Given the description of an element on the screen output the (x, y) to click on. 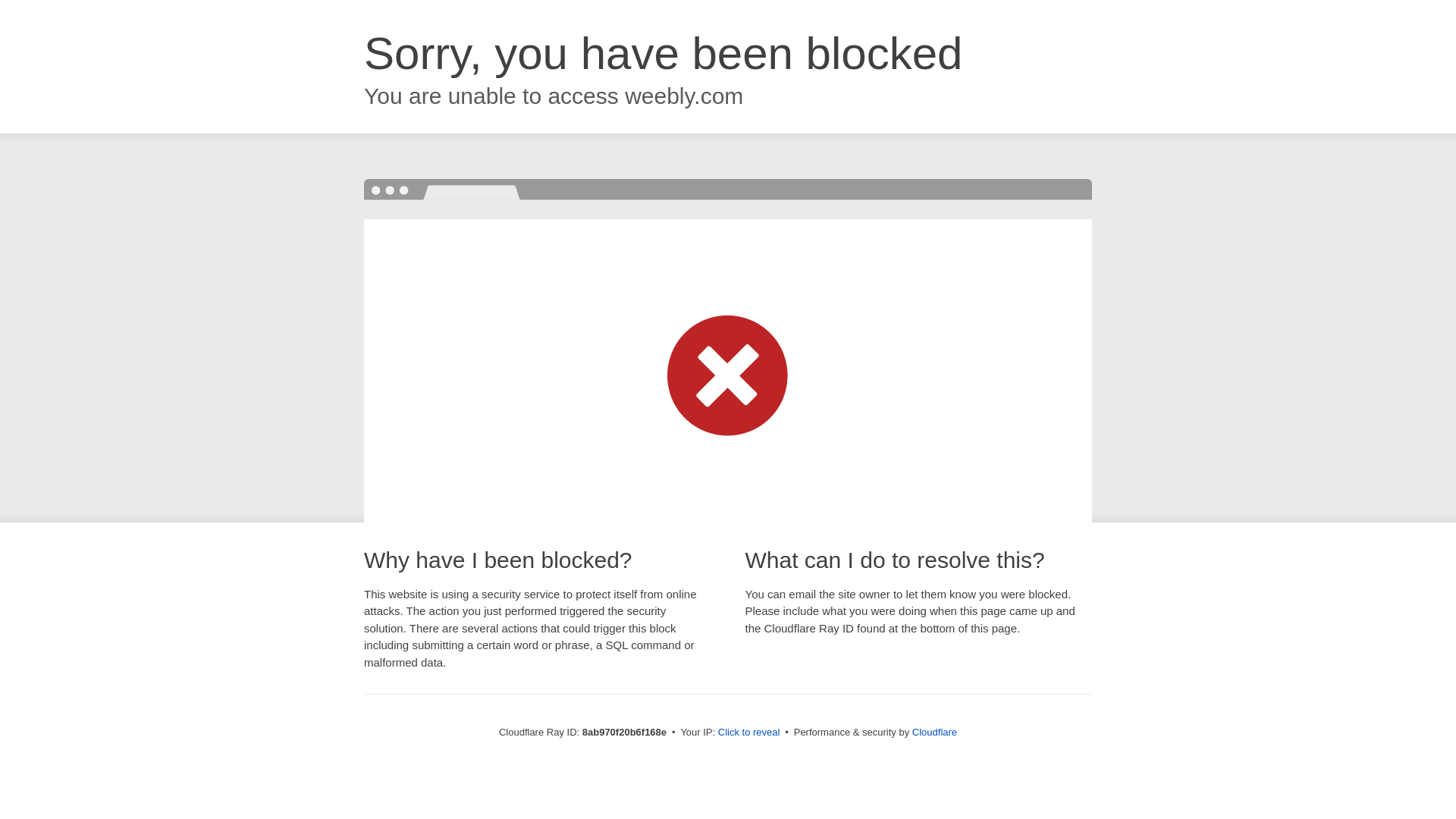
Cloudflare (934, 731)
Click to reveal (748, 732)
